Given the description of an element on the screen output the (x, y) to click on. 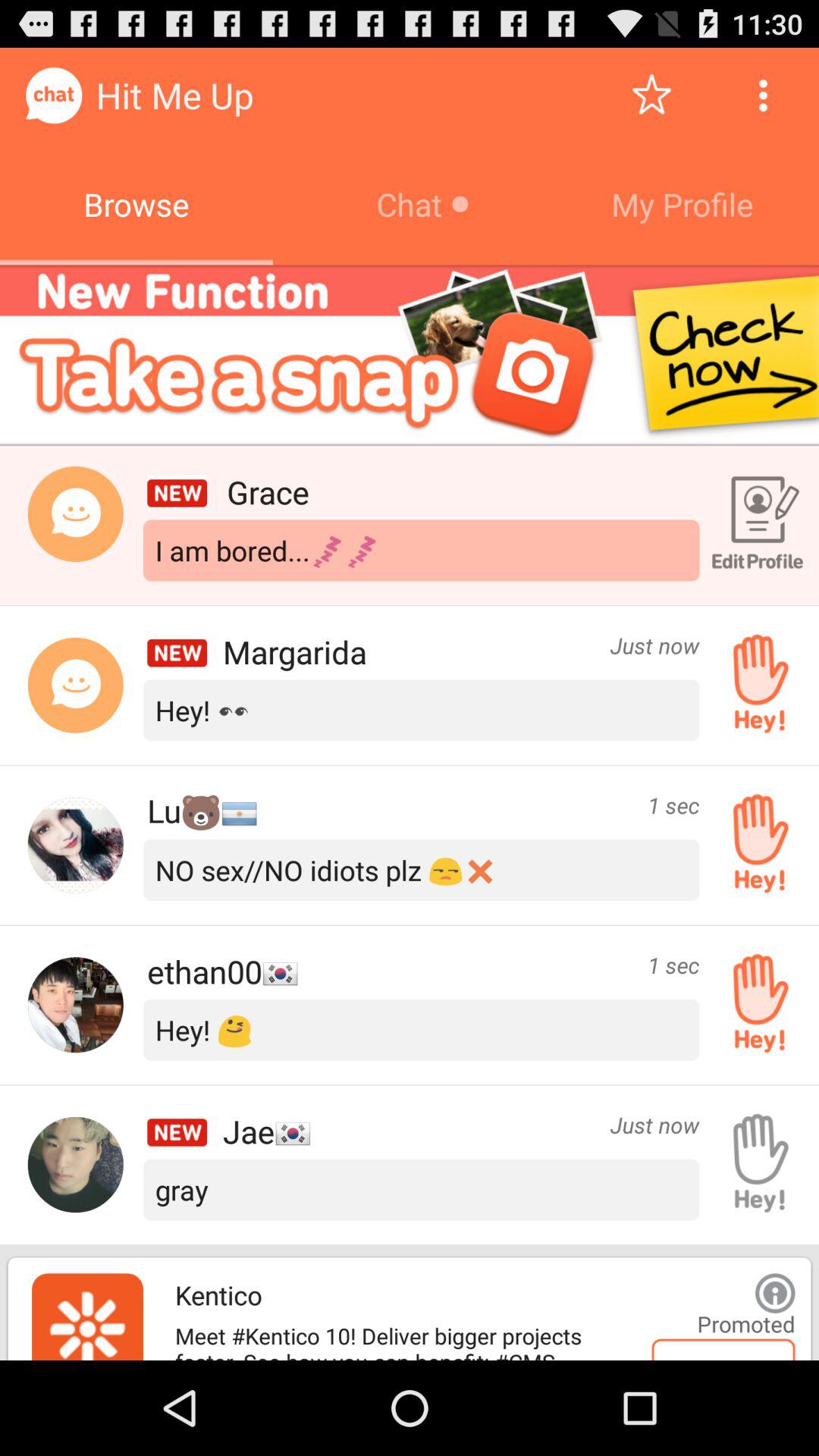
say hey to the person (755, 685)
